Given the description of an element on the screen output the (x, y) to click on. 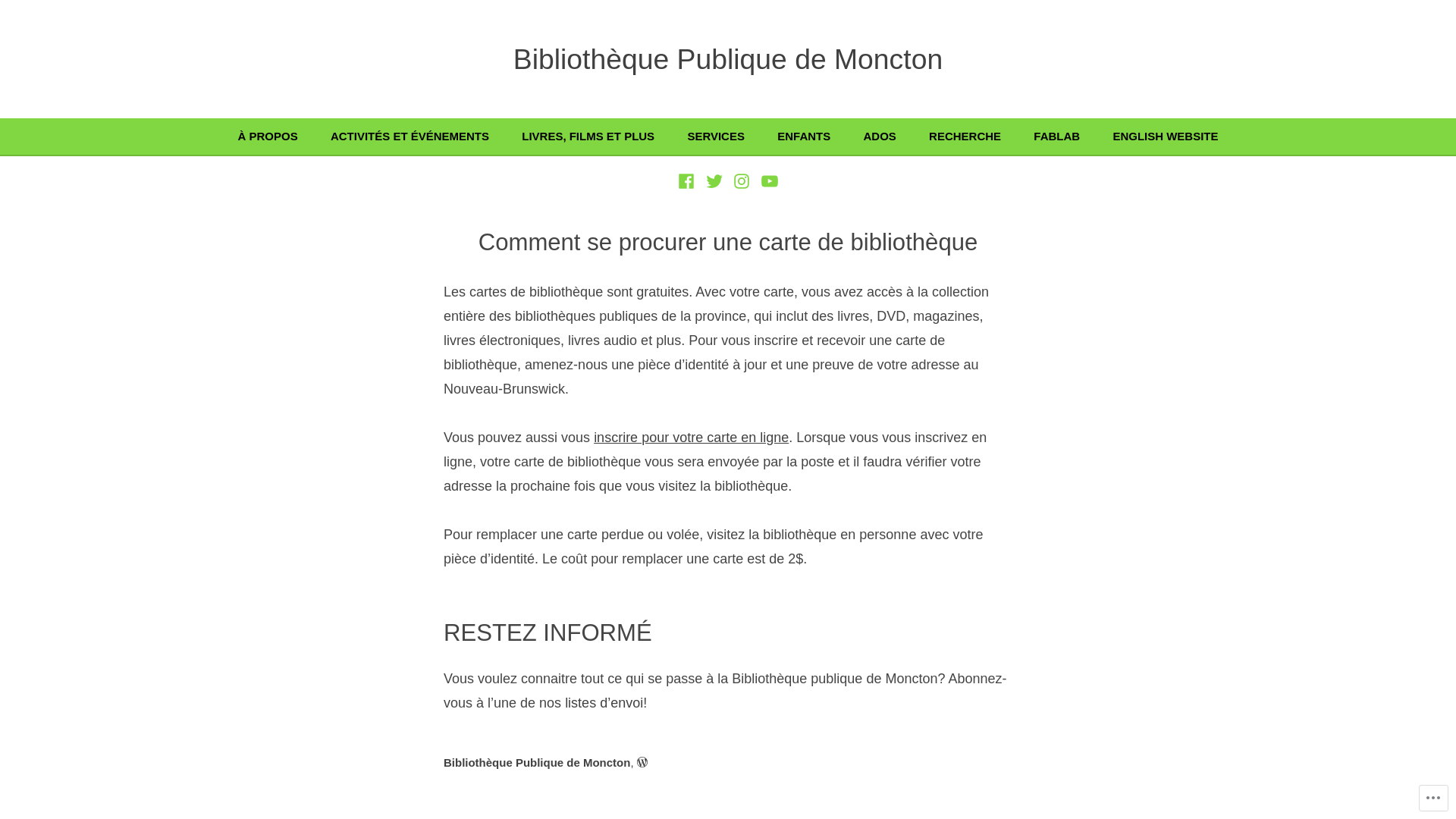
RECHERCHE Element type: text (980, 136)
ADOS Element type: text (895, 136)
FABLAB Element type: text (1072, 136)
ENFANTS Element type: text (819, 136)
LIVRES, FILMS ET PLUS Element type: text (604, 136)
SERVICES Element type: text (732, 136)
Create a website or blog at WordPress.com Element type: hover (642, 762)
inscrire pour votre carte en ligne Element type: text (690, 437)
ENGLISH WEBSITE Element type: text (1164, 136)
